Given the description of an element on the screen output the (x, y) to click on. 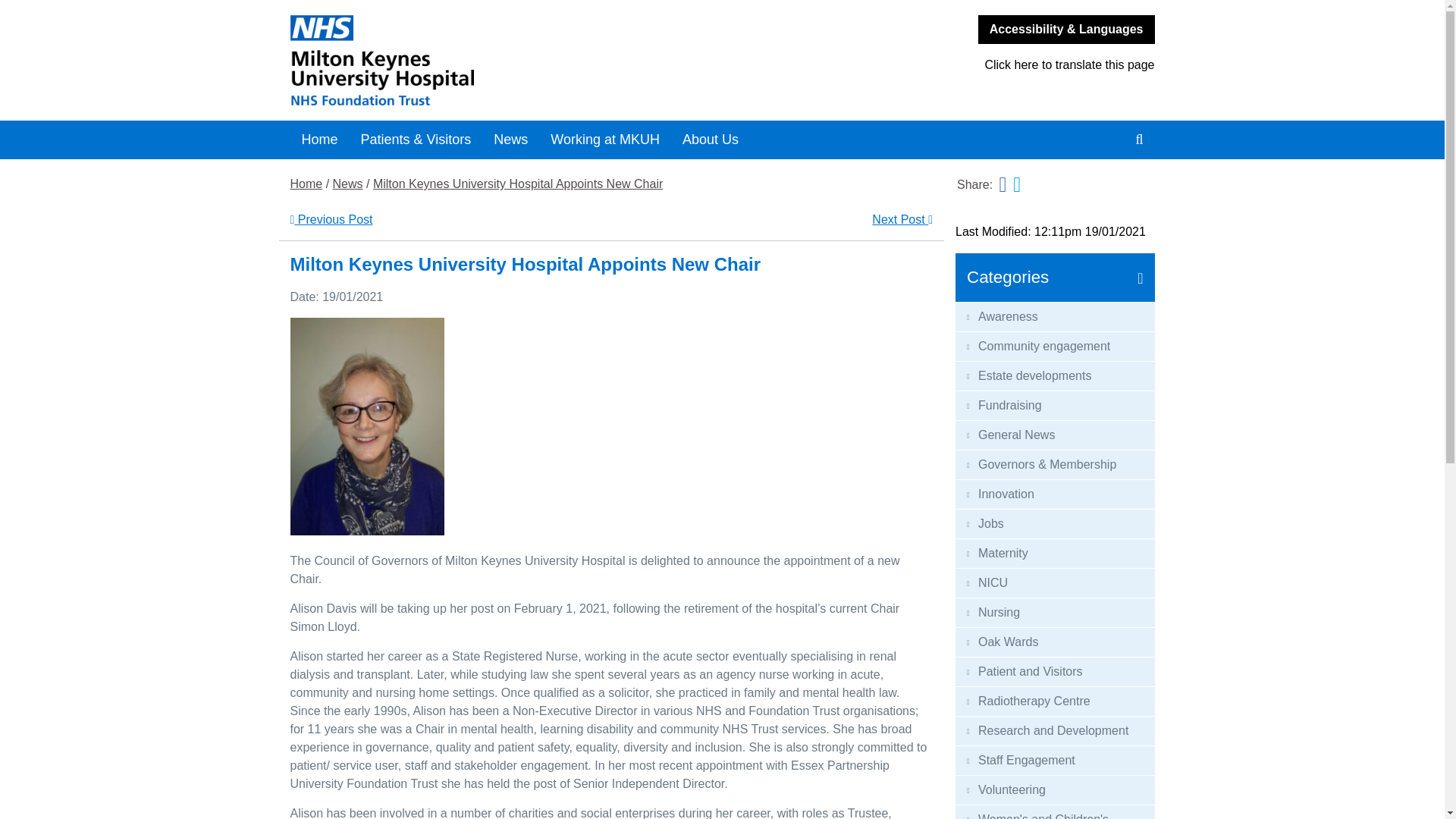
Working at MKUH (604, 139)
Milton Keynes University Hospital Appoints New Chair (517, 183)
Home (305, 183)
Home (499, 60)
News (347, 183)
Previous Post (330, 219)
News (509, 139)
About Us (710, 139)
Next Post (902, 219)
Home (319, 139)
